Given the description of an element on the screen output the (x, y) to click on. 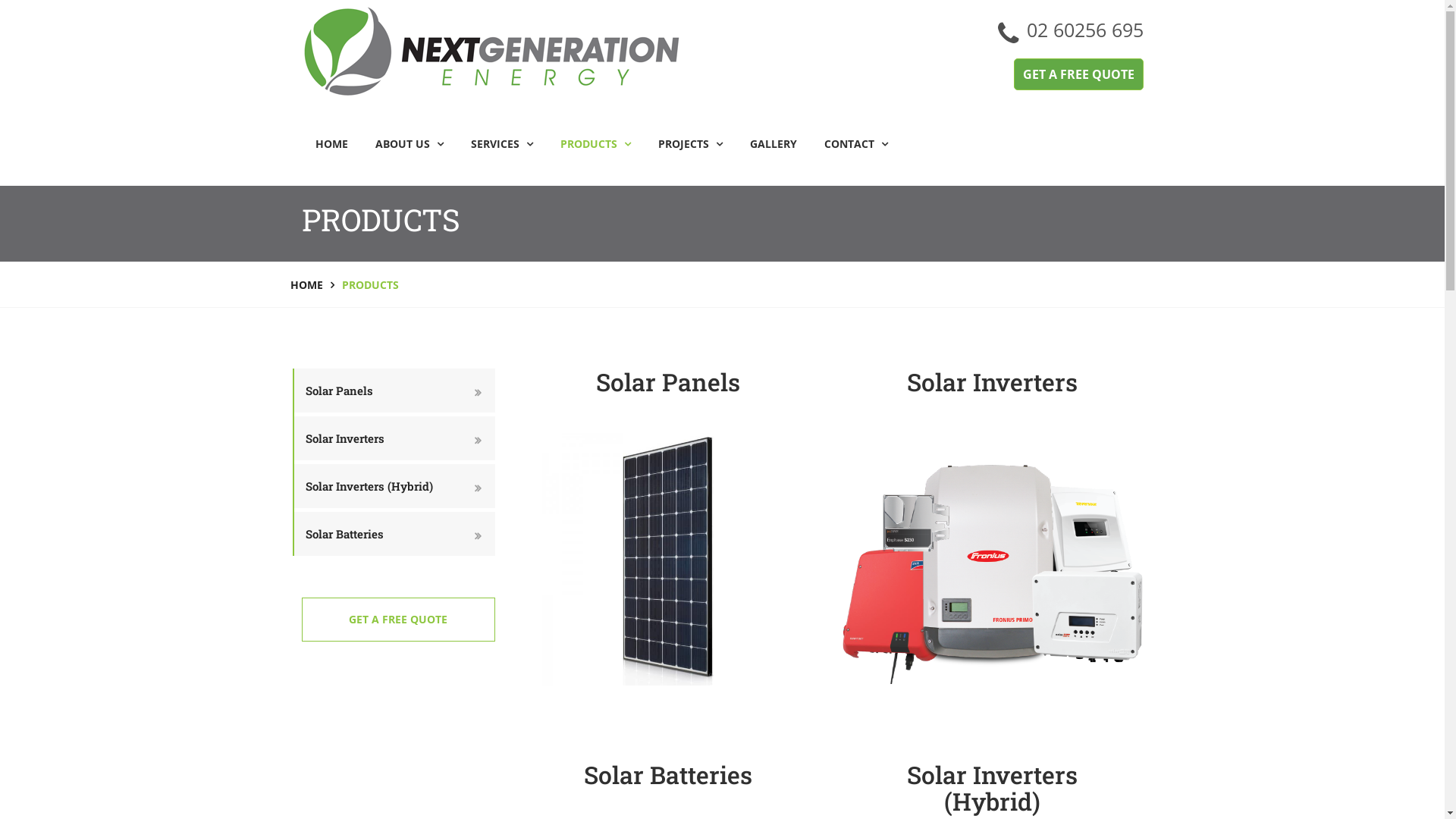
PROJECTS Element type: text (690, 143)
PRODUCTS Element type: text (594, 143)
Solar Inverters Element type: text (394, 437)
ABOUT US Element type: text (408, 143)
GET A FREE QUOTE Element type: text (1077, 74)
GALLERY Element type: text (772, 143)
Solar Panels Element type: hover (668, 559)
Solar Inverters (Hybrid) Element type: text (394, 485)
Solar Panels Element type: text (394, 390)
Solar Inverters Element type: hover (992, 558)
HOME Element type: text (305, 284)
Solar Batteries Element type: text (394, 533)
SERVICES Element type: text (501, 143)
HOME Element type: text (331, 143)
02 60256 695 Element type: text (1084, 33)
CONTACT Element type: text (848, 151)
GET A FREE QUOTE Element type: text (398, 619)
